Given the description of an element on the screen output the (x, y) to click on. 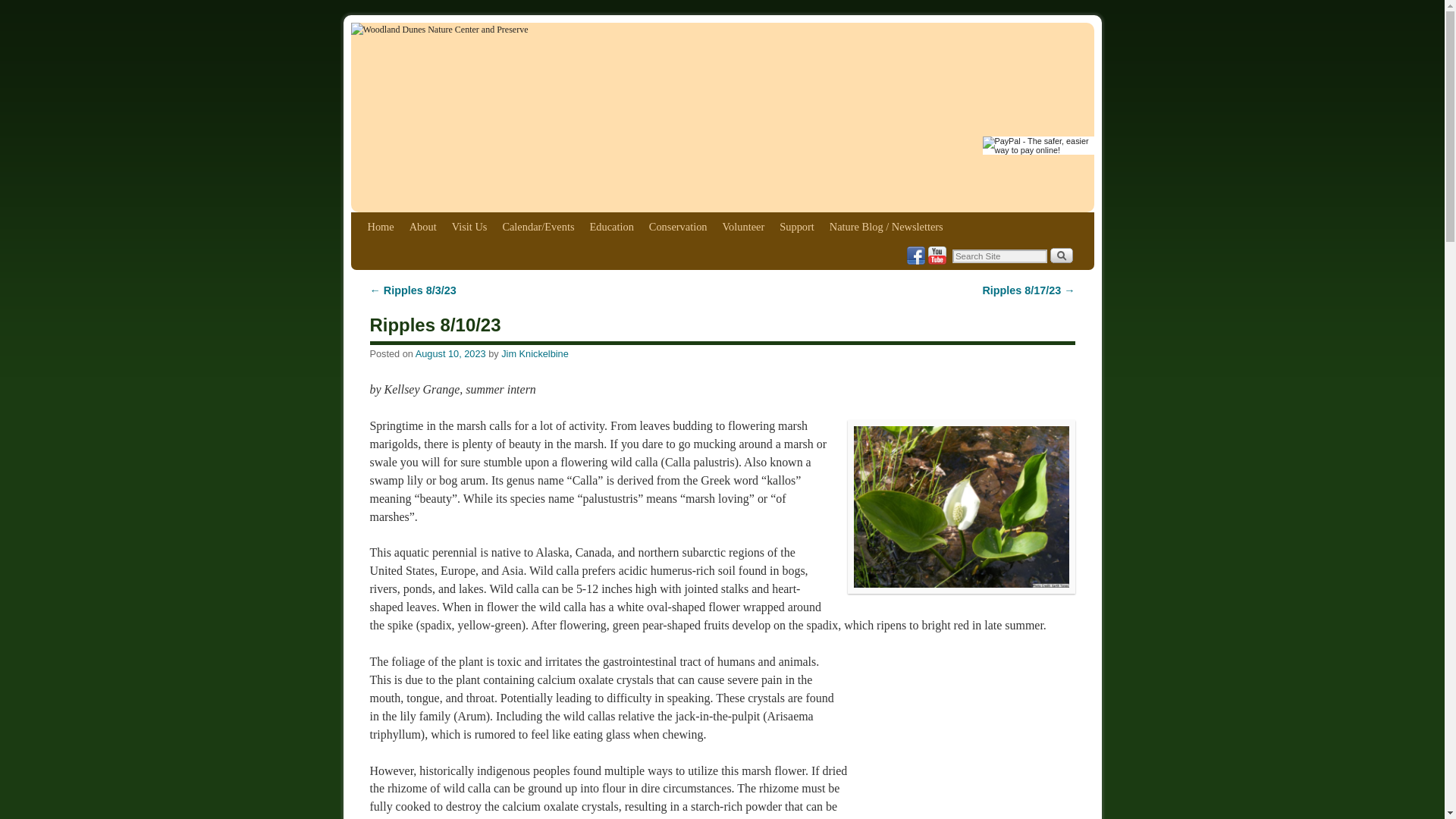
Home (380, 226)
YouTube: video sharing (937, 255)
Conservation (678, 226)
10:07 am (450, 353)
Support (796, 226)
Education (610, 226)
About (422, 226)
Facebook: social networking (915, 255)
Skip to primary content (393, 219)
Facebook: social networking (915, 255)
Visit Us (469, 226)
View all posts by Jim Knickelbine (534, 353)
YouTube: video sharing (937, 255)
Volunteer (743, 226)
Skip to secondary content (397, 219)
